Given the description of an element on the screen output the (x, y) to click on. 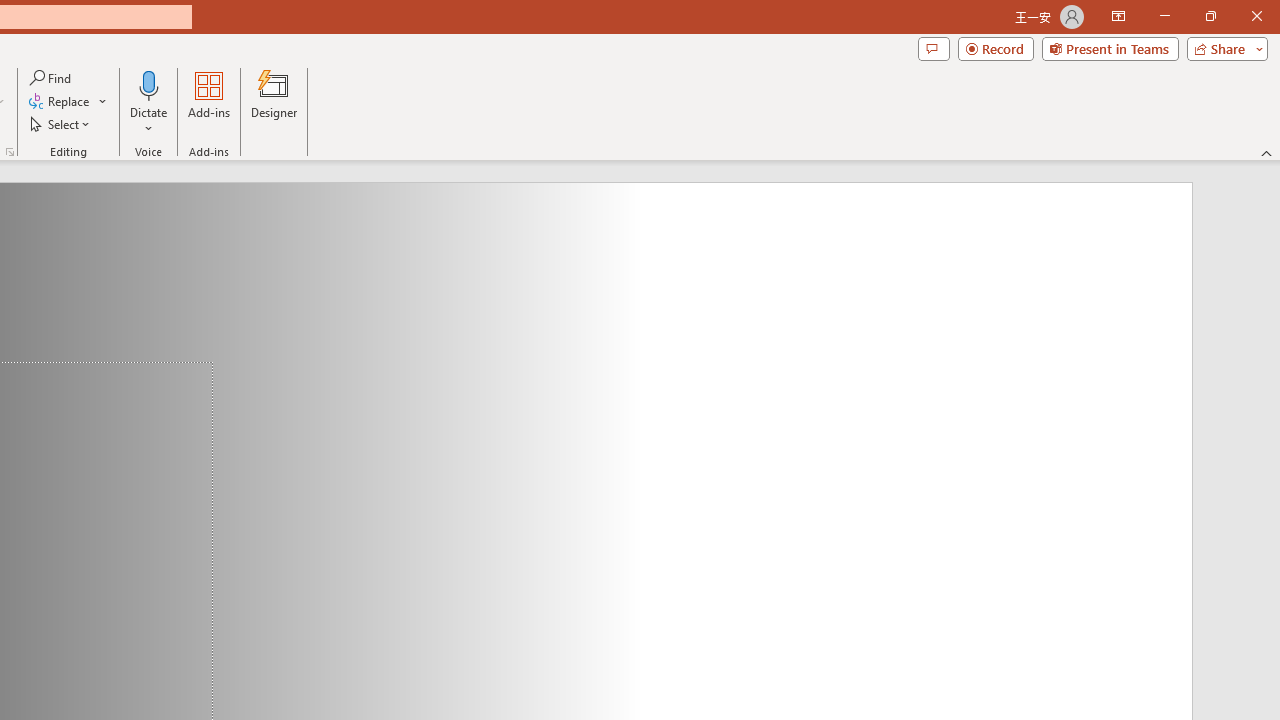
Find... (51, 78)
